Given the description of an element on the screen output the (x, y) to click on. 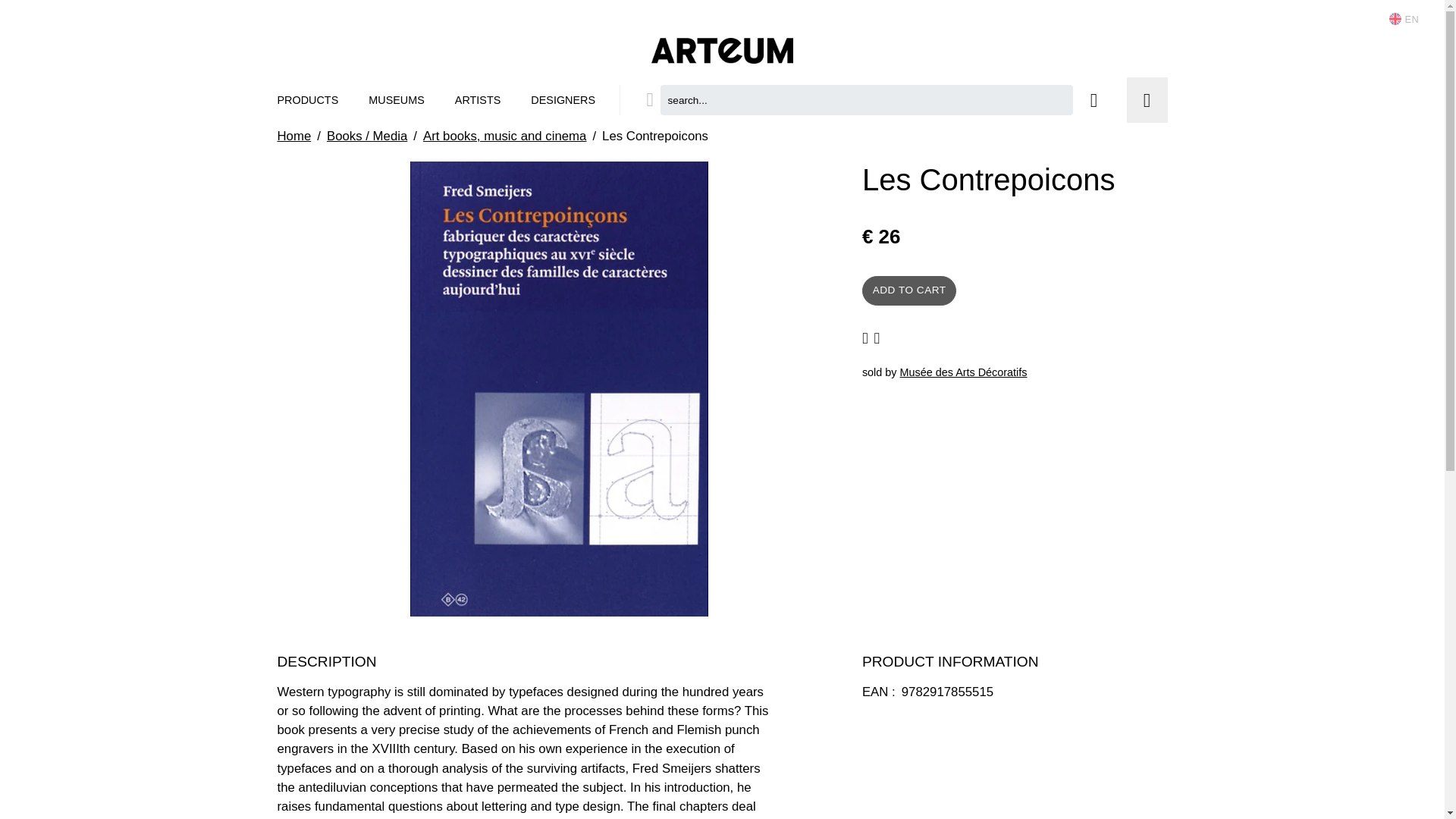
Arteum (721, 49)
EN (1403, 18)
Your account (1093, 99)
